Given the description of an element on the screen output the (x, y) to click on. 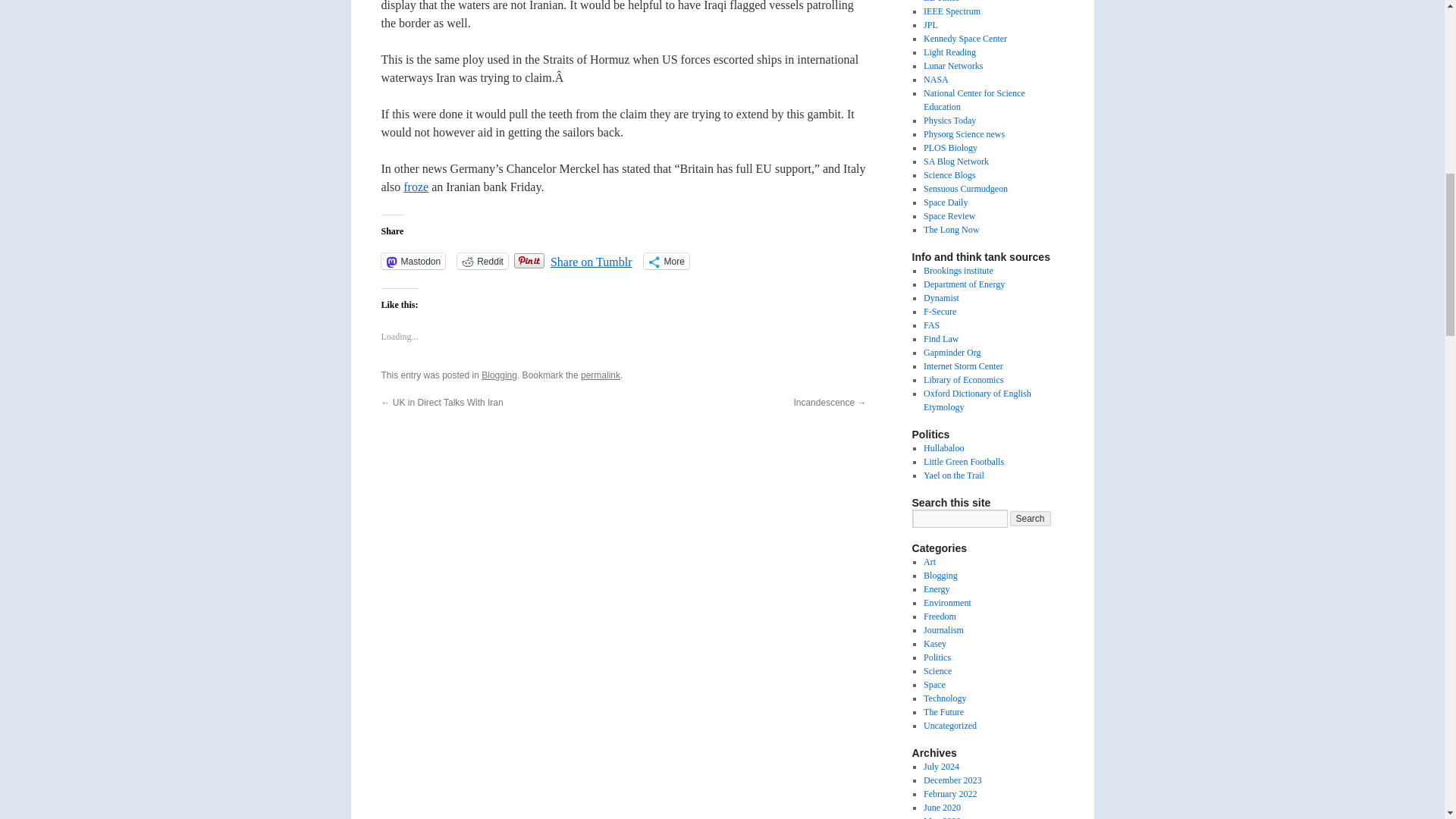
froze (415, 186)
Permalink to Tehran Airs New Video of Kidnapped Sailors (600, 375)
ADN Kronos (415, 186)
Blogging (498, 375)
Click to share on Mastodon (412, 261)
Mastodon (412, 261)
Share on Tumblr (590, 259)
permalink (600, 375)
Click to share on Reddit (482, 261)
Search (1030, 518)
More (665, 261)
Reddit (482, 261)
Share on Tumblr (590, 259)
